Given the description of an element on the screen output the (x, y) to click on. 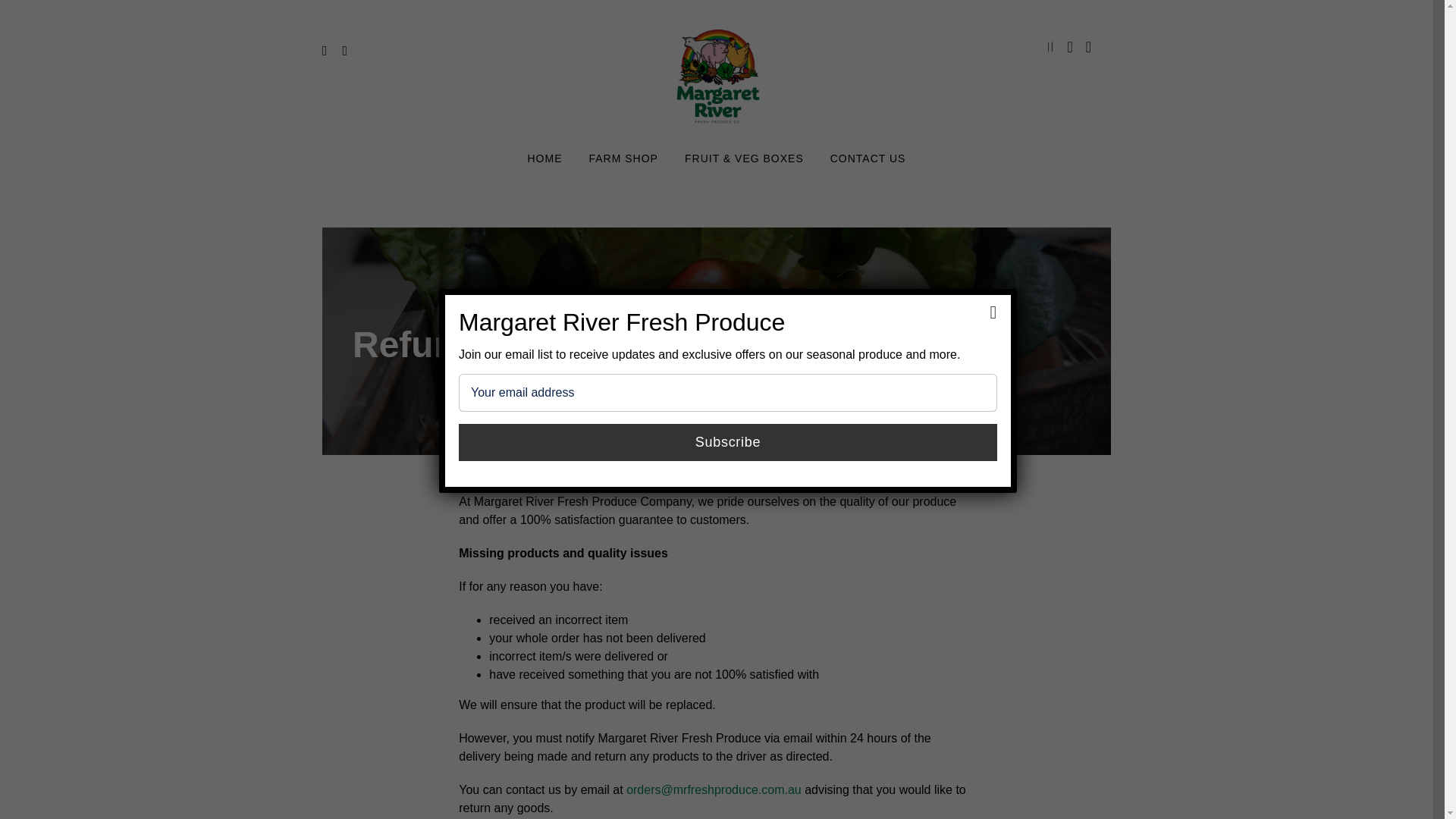
Log In (1002, 229)
CONTACT US (867, 158)
FARM SHOP (623, 158)
subscribe (727, 441)
HOME (544, 158)
